Given the description of an element on the screen output the (x, y) to click on. 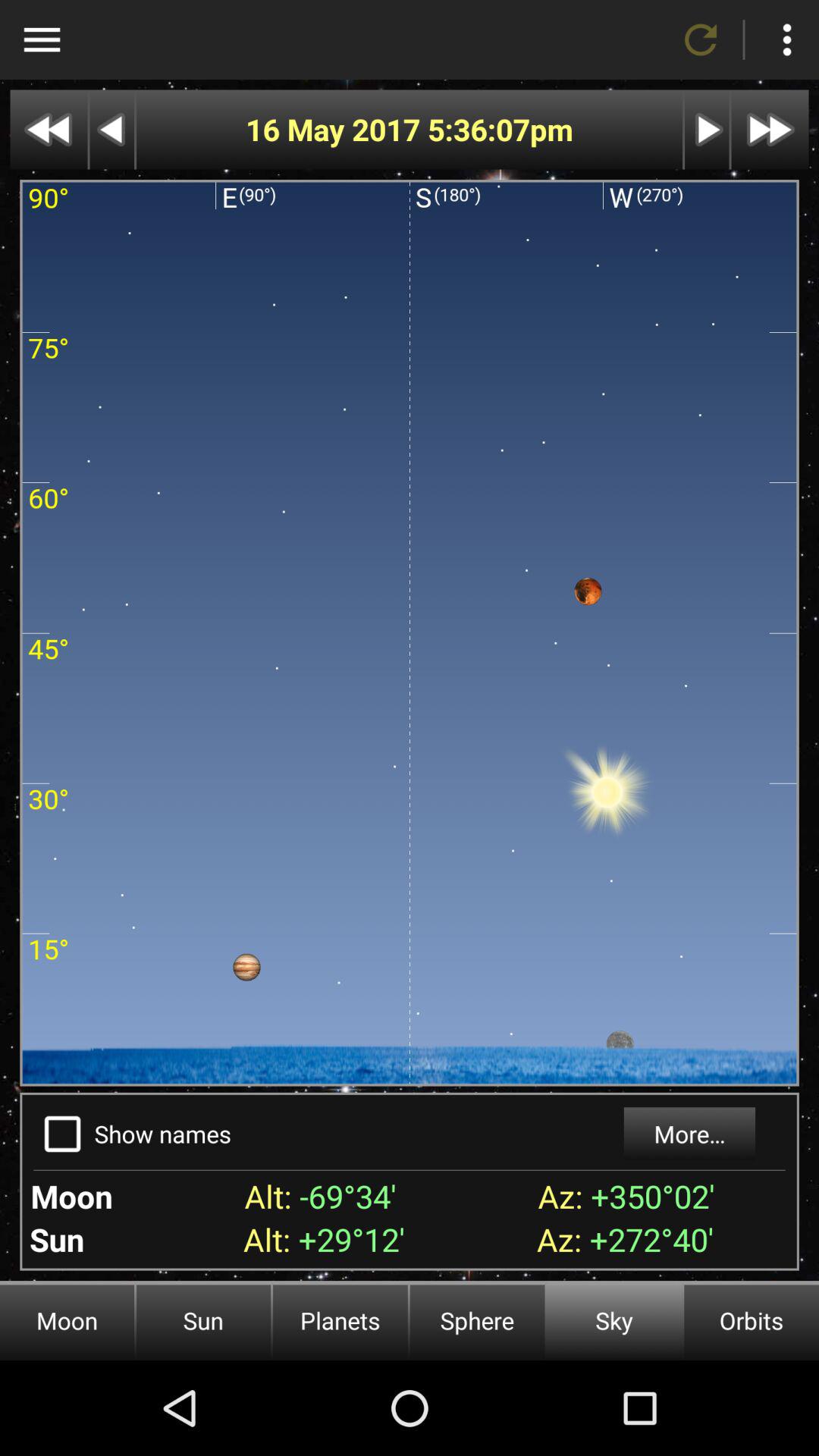
go back (111, 129)
